Given the description of an element on the screen output the (x, y) to click on. 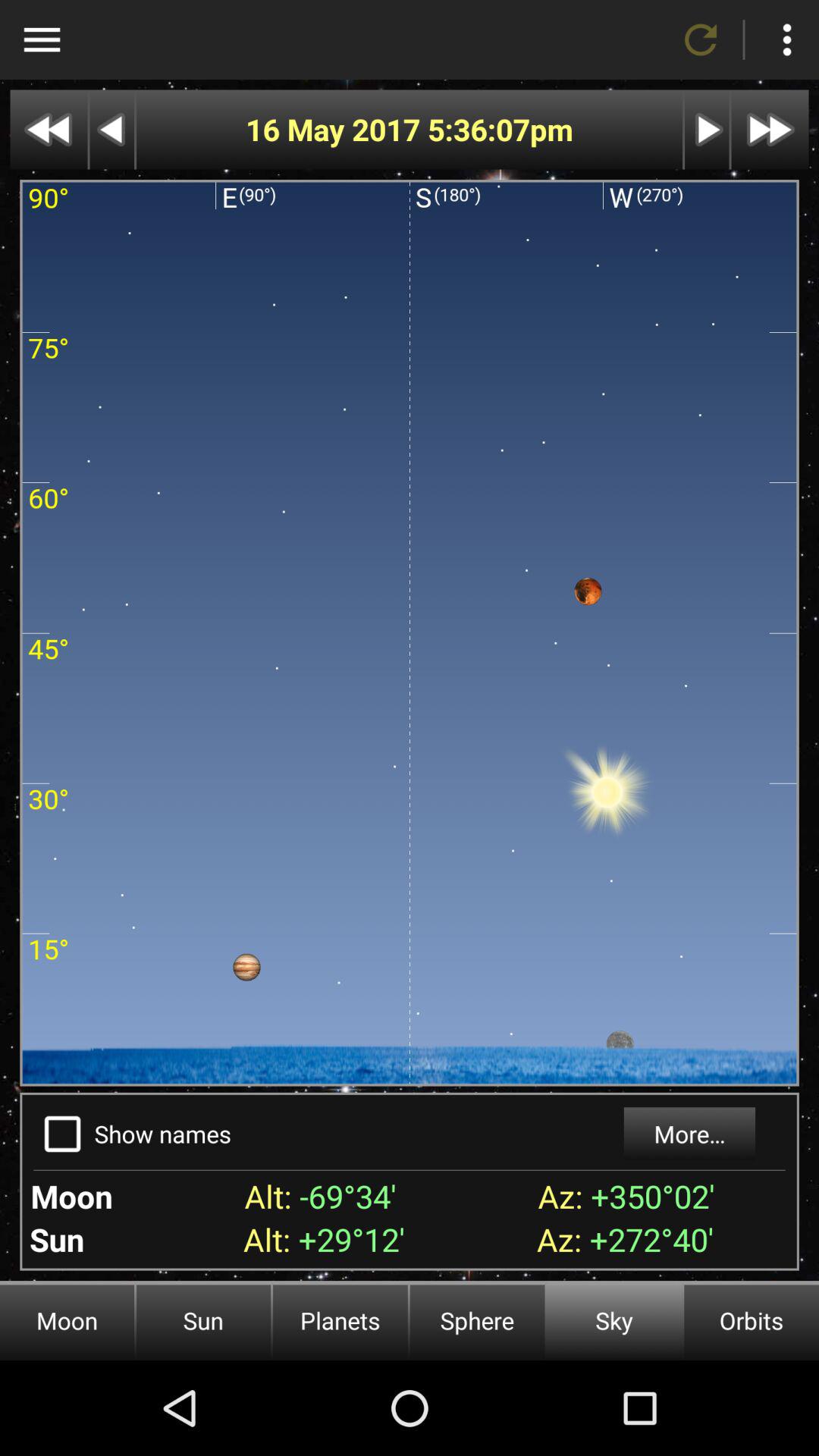
go back (111, 129)
